Given the description of an element on the screen output the (x, y) to click on. 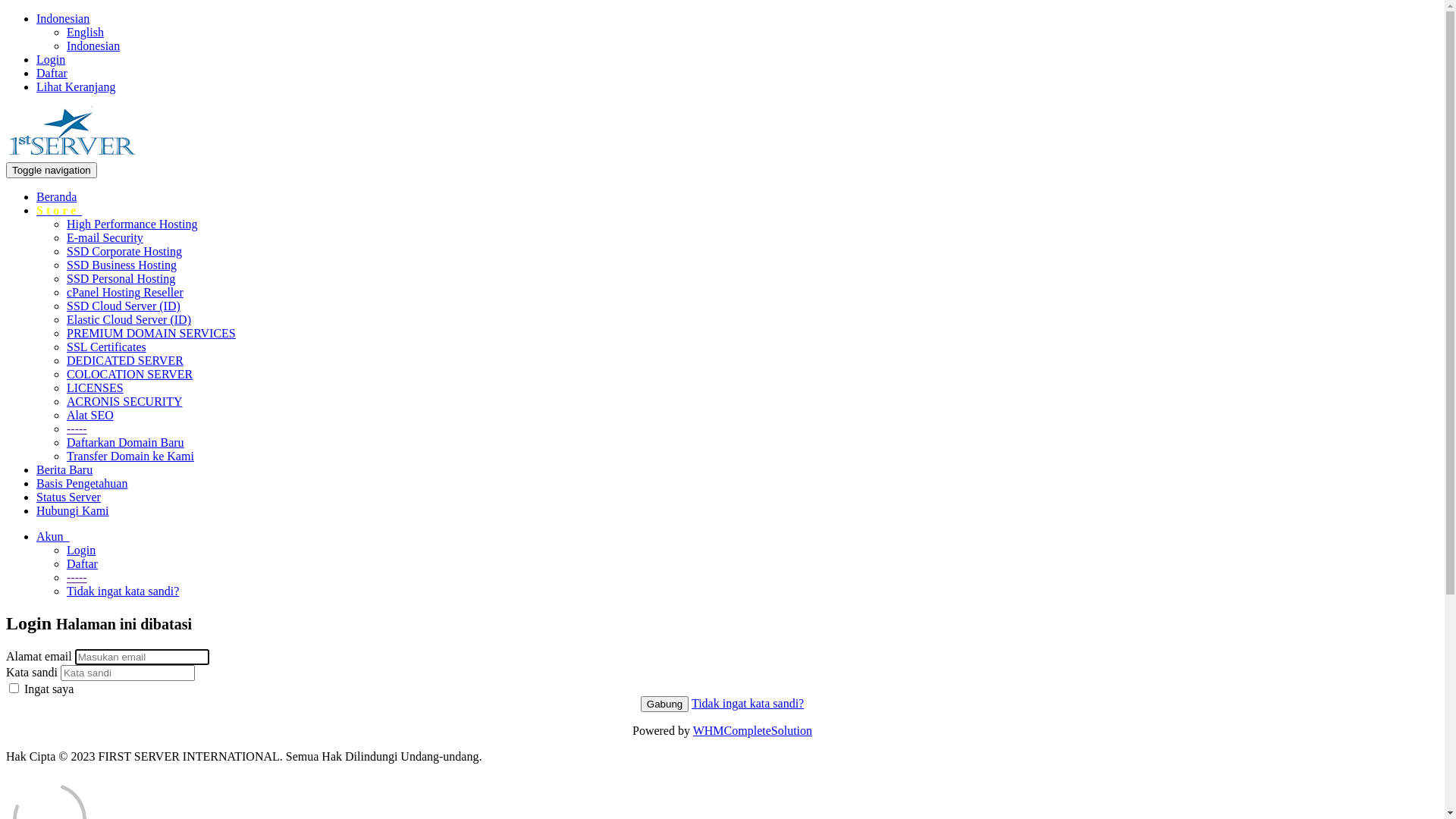
Basis Pengetahuan Element type: text (81, 482)
Transfer Domain ke Kami Element type: text (130, 455)
Daftar Element type: text (51, 72)
LICENSES Element type: text (94, 387)
COLOCATION SERVER Element type: text (129, 373)
Elastic Cloud Server (ID) Element type: text (128, 319)
Akun   Element type: text (52, 536)
Beranda Element type: text (56, 196)
----- Element type: text (76, 577)
ACRONIS SECURITY Element type: text (124, 401)
Gabung Element type: text (664, 704)
Alat SEO Element type: text (89, 414)
E-mail Security Element type: text (104, 237)
Indonesian Element type: text (92, 45)
Daftar Element type: text (81, 563)
SSL Certificates Element type: text (106, 346)
Berita Baru Element type: text (64, 469)
DEDICATED SERVER Element type: text (124, 360)
Login Element type: text (50, 59)
Hubungi Kami Element type: text (72, 510)
Tidak ingat kata sandi? Element type: text (122, 590)
S t o r e   Element type: text (58, 209)
Status Server Element type: text (68, 496)
Tidak ingat kata sandi? Element type: text (747, 702)
English Element type: text (84, 31)
WHMCompleteSolution Element type: text (752, 730)
----- Element type: text (76, 428)
SSD Personal Hosting Element type: text (120, 278)
cPanel Hosting Reseller Element type: text (124, 291)
High Performance Hosting Element type: text (131, 223)
SSD Cloud Server (ID) Element type: text (123, 305)
Toggle navigation Element type: text (51, 170)
Daftarkan Domain Baru Element type: text (125, 442)
SSD Corporate Hosting Element type: text (124, 250)
Lihat Keranjang Element type: text (75, 86)
SSD Business Hosting Element type: text (121, 264)
Login Element type: text (80, 549)
PREMIUM DOMAIN SERVICES Element type: text (150, 332)
Indonesian Element type: text (62, 18)
